Given the description of an element on the screen output the (x, y) to click on. 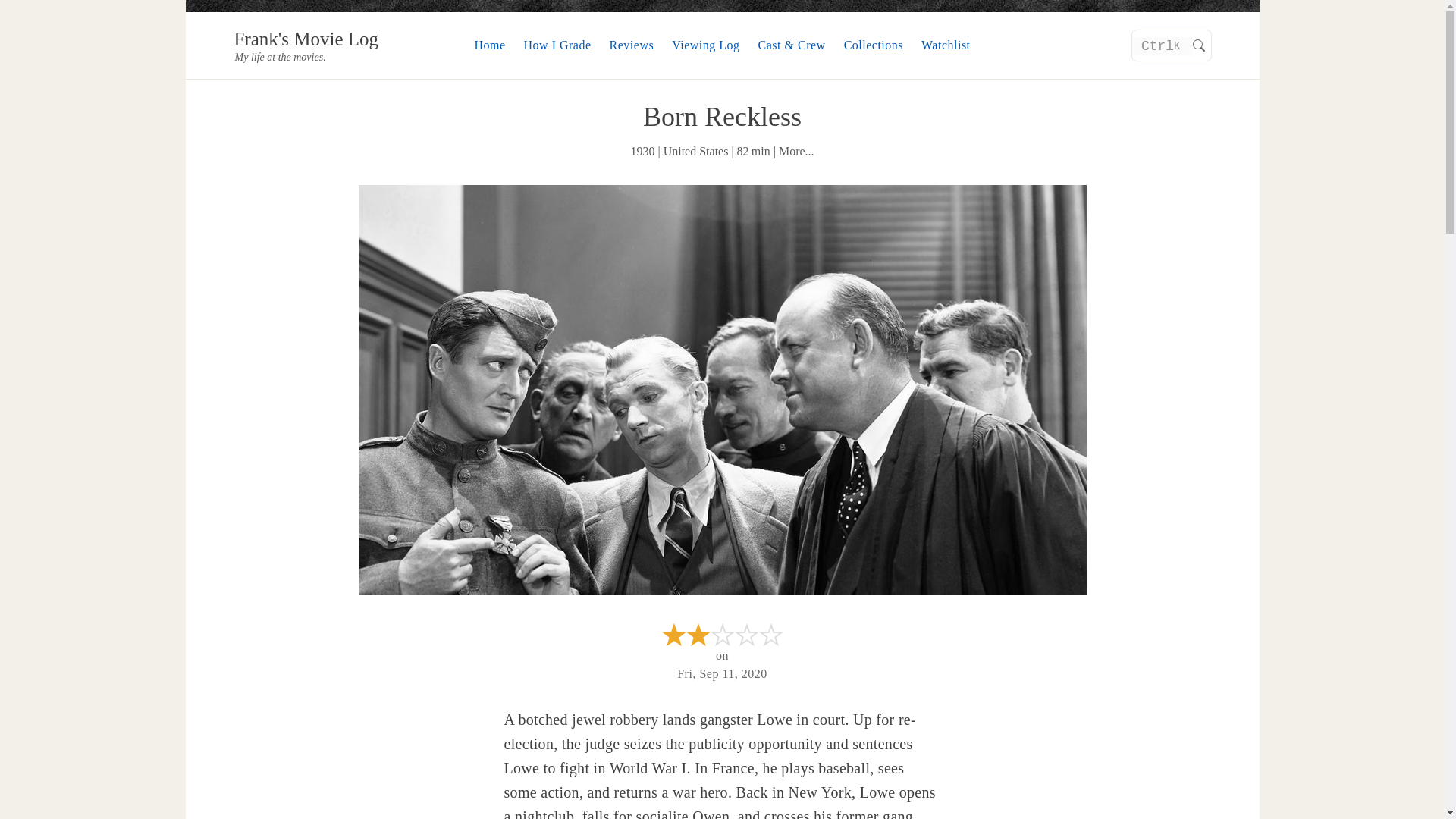
Home (489, 44)
Viewing Log (705, 44)
Watchlist (946, 44)
Frank's Movie Log (305, 38)
Collections (873, 44)
Reviews (631, 44)
How I Grade (557, 44)
More... (1171, 45)
